Given the description of an element on the screen output the (x, y) to click on. 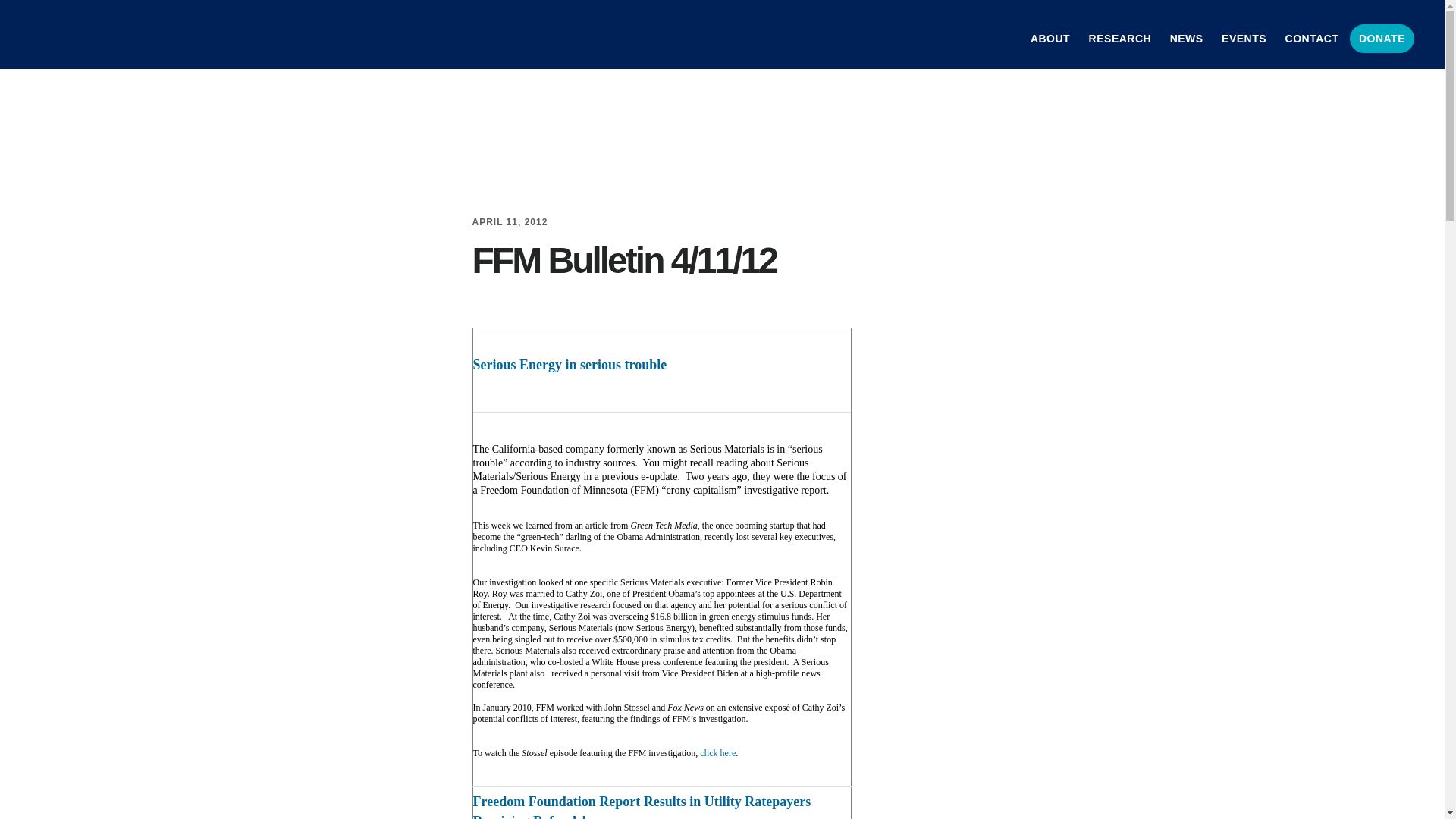
CONTACT (1312, 38)
NEWS (1186, 38)
FREEDOM FOUNDATION OF MINNESOTA (143, 33)
EVENTS (1244, 38)
RESEARCH (1119, 38)
click here (717, 752)
DONATE (1381, 38)
ABOUT (1050, 38)
